Given the description of an element on the screen output the (x, y) to click on. 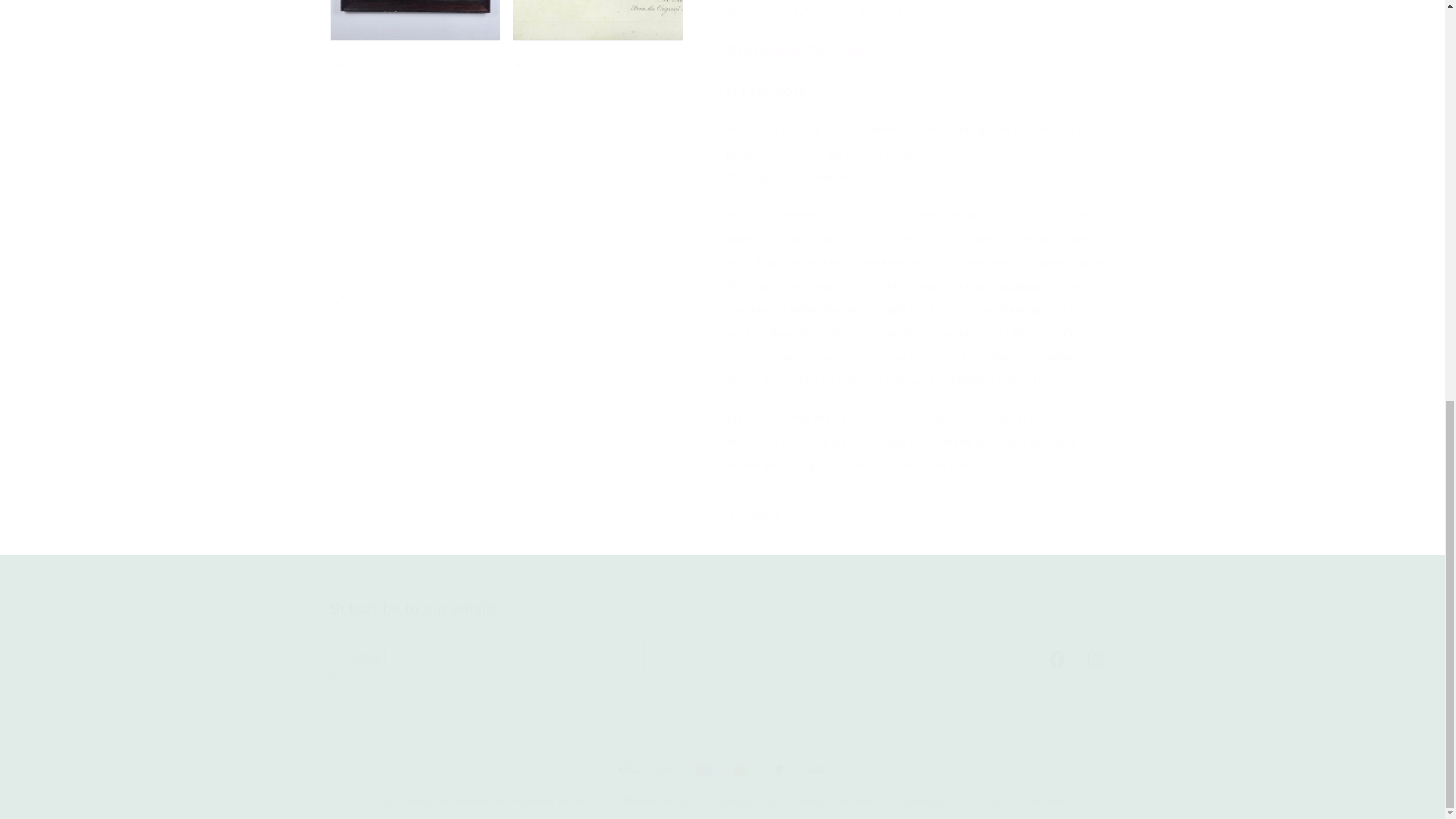
Open media 2 in modal (415, 11)
Open media 3 in modal (597, 11)
